Given the description of an element on the screen output the (x, y) to click on. 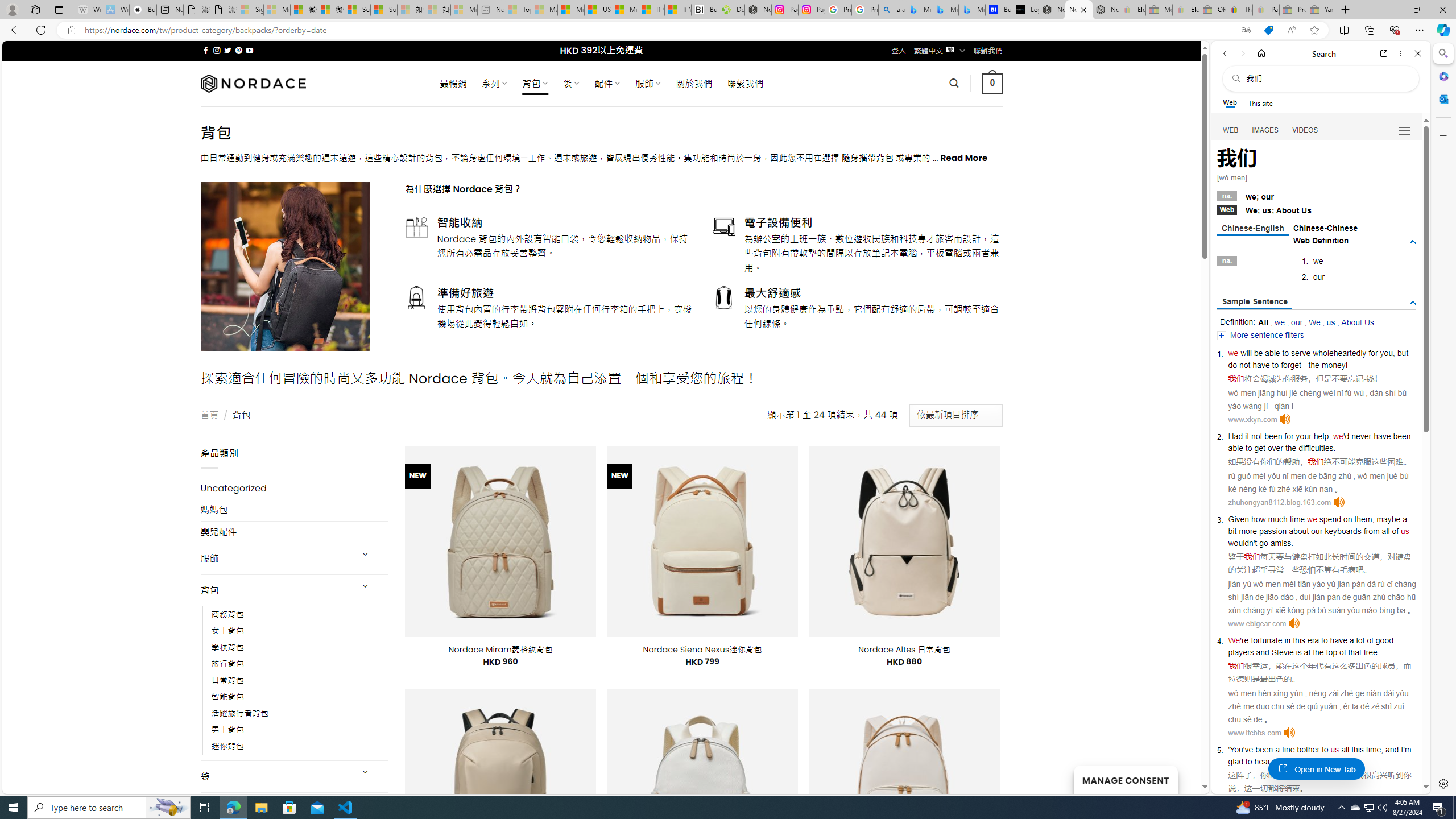
your (1303, 435)
Top Stories - MSN - Sleeping (517, 9)
WebWe; us; About Us (1316, 209)
we (1312, 519)
glad (1235, 760)
in (1287, 640)
